Given the description of an element on the screen output the (x, y) to click on. 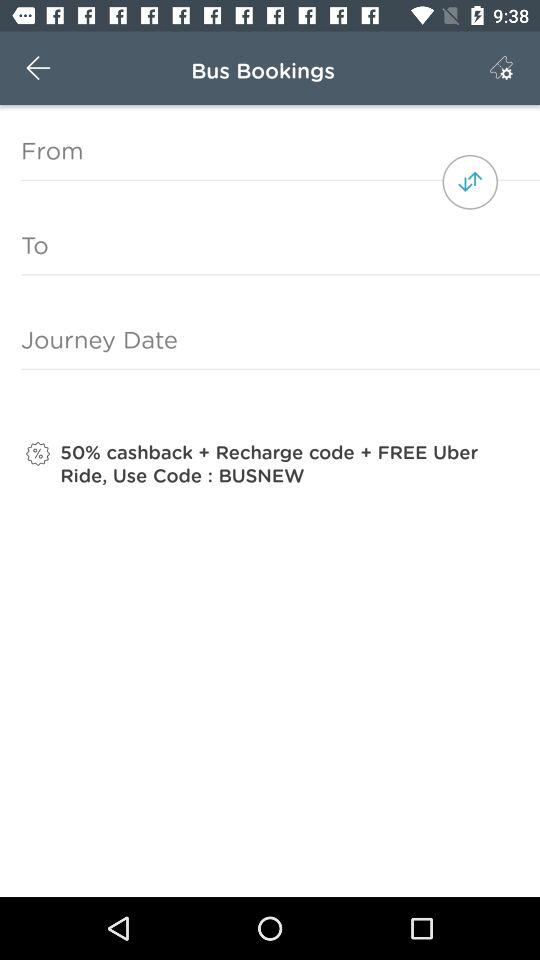
open the item above the to (469, 181)
